Given the description of an element on the screen output the (x, y) to click on. 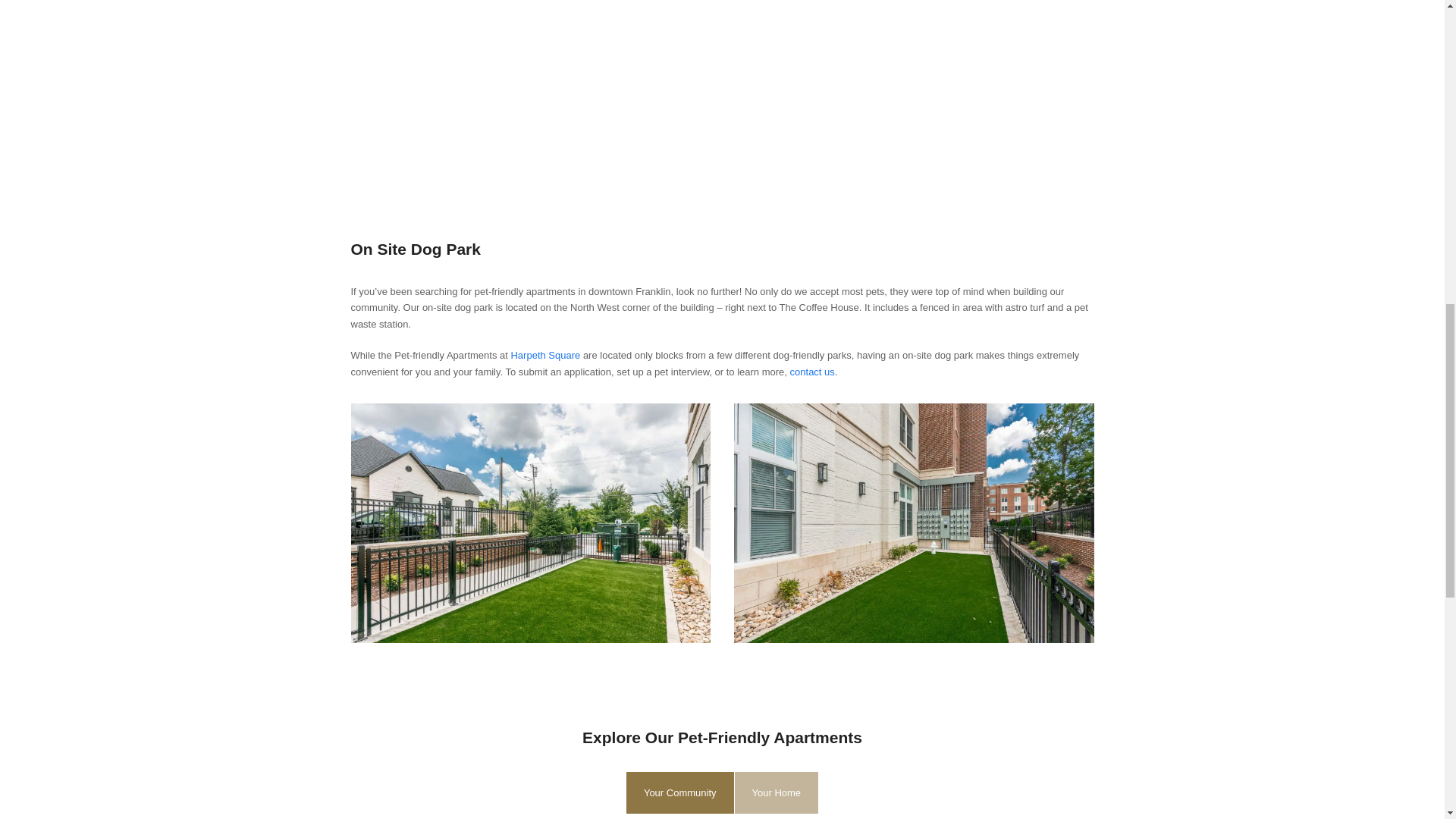
Your Home (776, 793)
Your Community (679, 793)
Harpeth Square (545, 355)
contact us (812, 371)
